Given the description of an element on the screen output the (x, y) to click on. 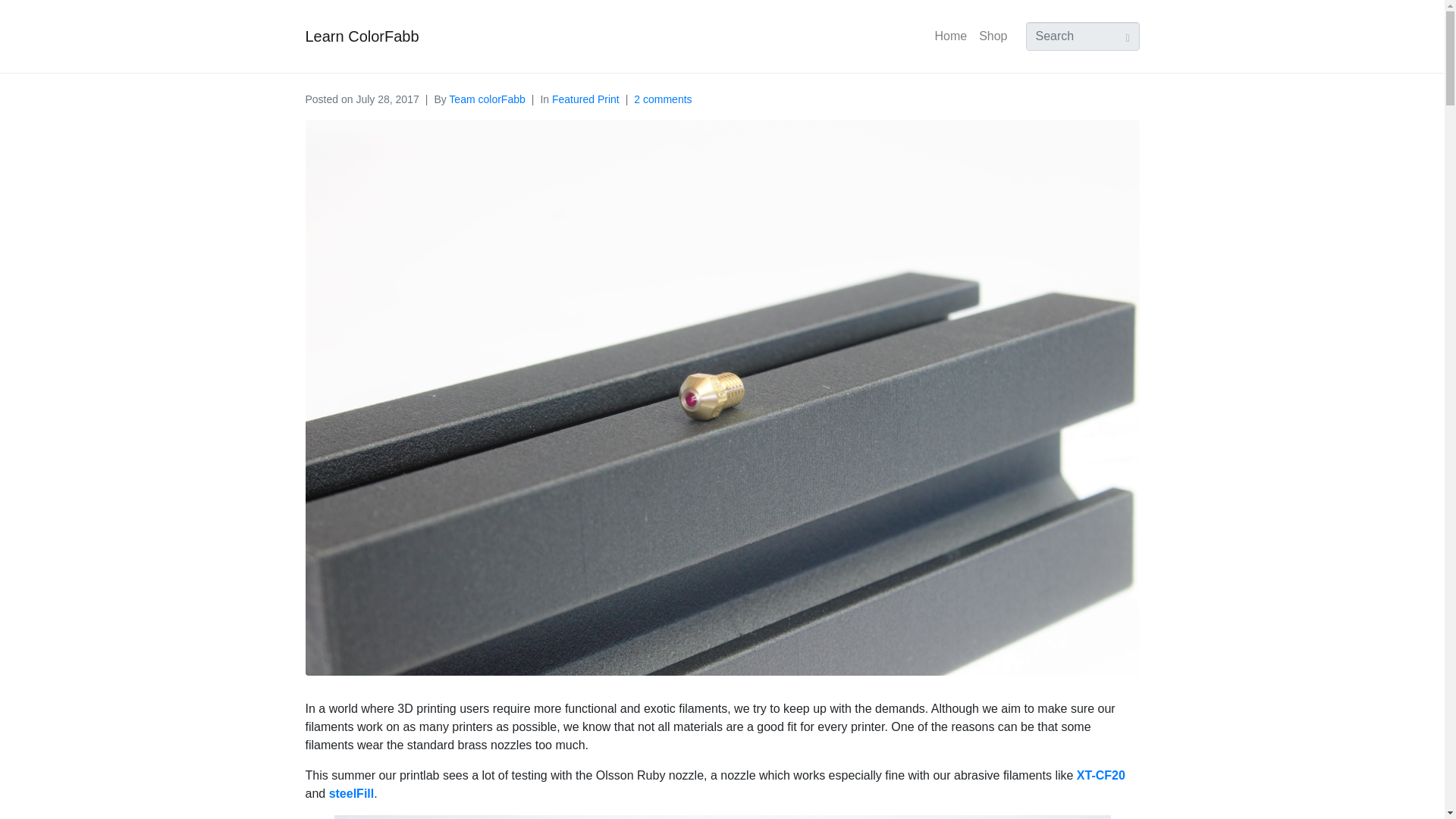
Learn ColorFabb (361, 36)
XT-CF20 (1101, 775)
2 comments (662, 99)
Home (950, 36)
steelFill (351, 793)
Shop (992, 36)
Featured Print (585, 99)
Team colorFabb (486, 99)
